Given the description of an element on the screen output the (x, y) to click on. 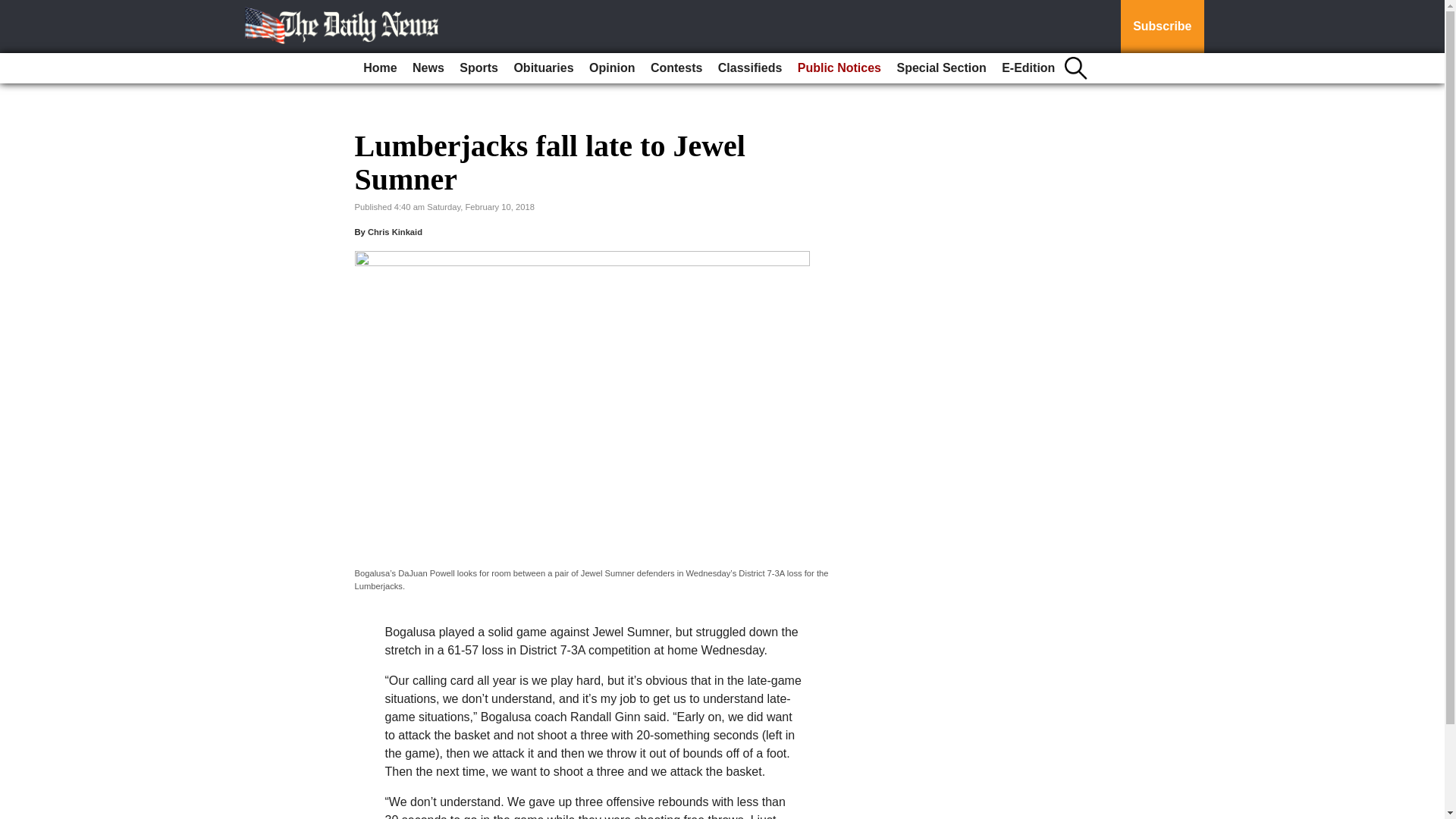
E-Edition (1028, 68)
News (427, 68)
Go (13, 9)
Sports (477, 68)
Obituaries (542, 68)
Special Section (940, 68)
Classifieds (749, 68)
Subscribe (1162, 26)
Public Notices (839, 68)
Opinion (611, 68)
